Given the description of an element on the screen output the (x, y) to click on. 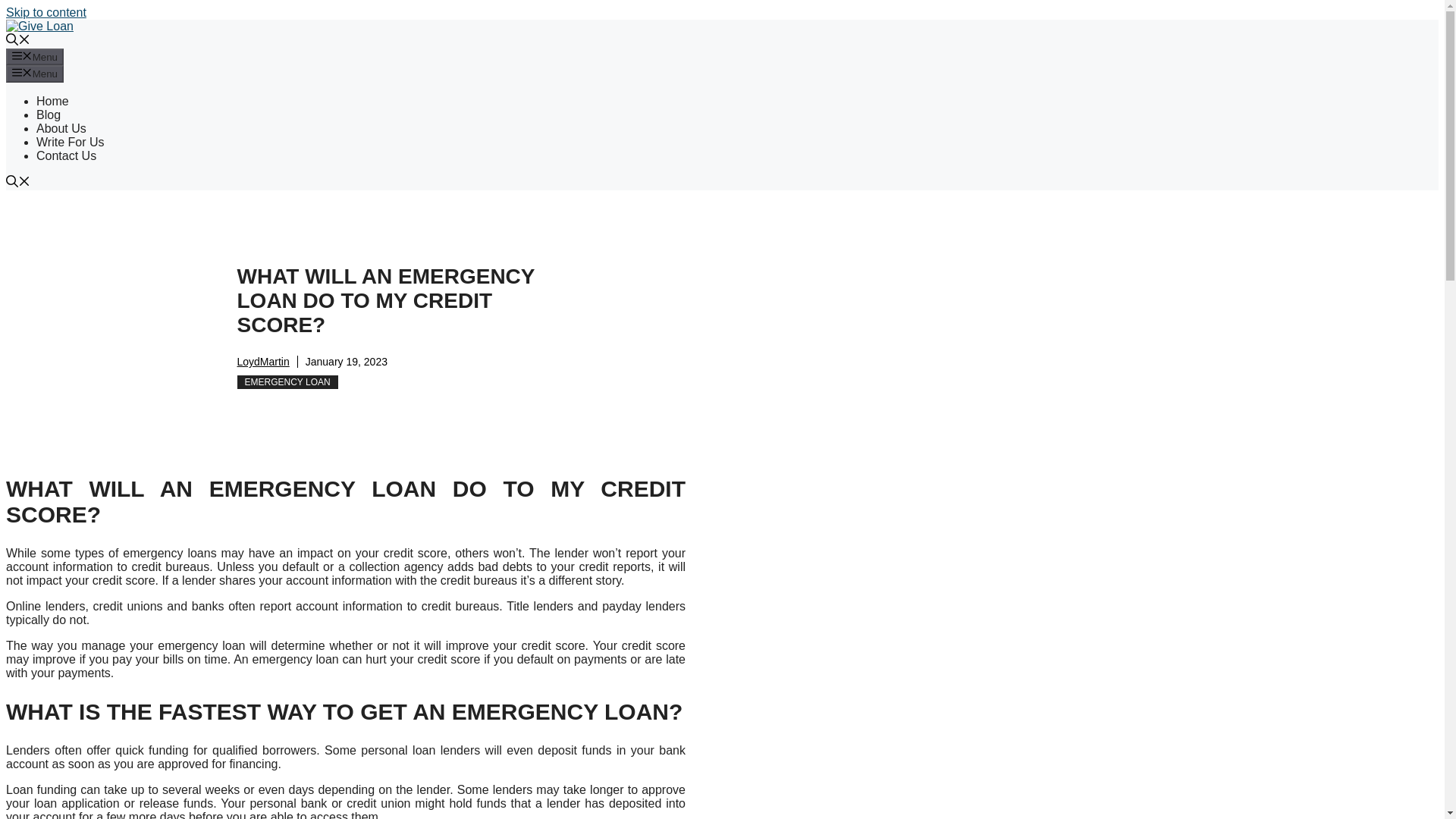
Home (52, 101)
About Us (60, 128)
Blog (48, 114)
Skip to content (45, 11)
LoydMartin (261, 361)
Menu (34, 56)
Skip to content (45, 11)
Menu (34, 73)
Write For Us (69, 141)
EMERGENCY LOAN (286, 382)
